Given the description of an element on the screen output the (x, y) to click on. 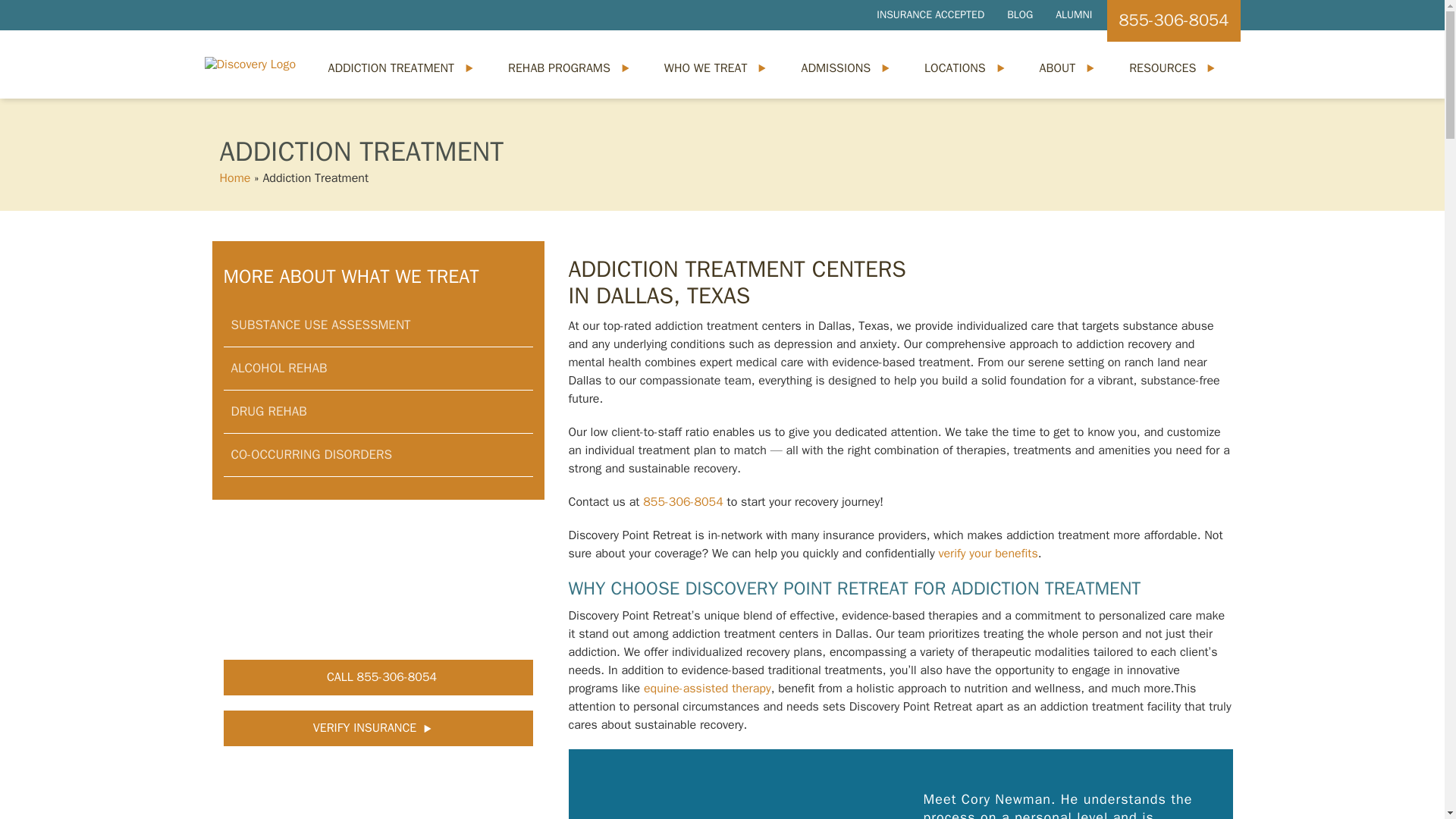
855-306-8054 (1173, 20)
Insurance Accepted (930, 15)
Blog (1019, 15)
ALUMNI (1073, 15)
ADDICTION TREATMENT (392, 67)
Alumni (1073, 15)
INSURANCE ACCEPTED (930, 15)
REHAB PROGRAMS (561, 67)
BLOG (1019, 15)
